Given the description of an element on the screen output the (x, y) to click on. 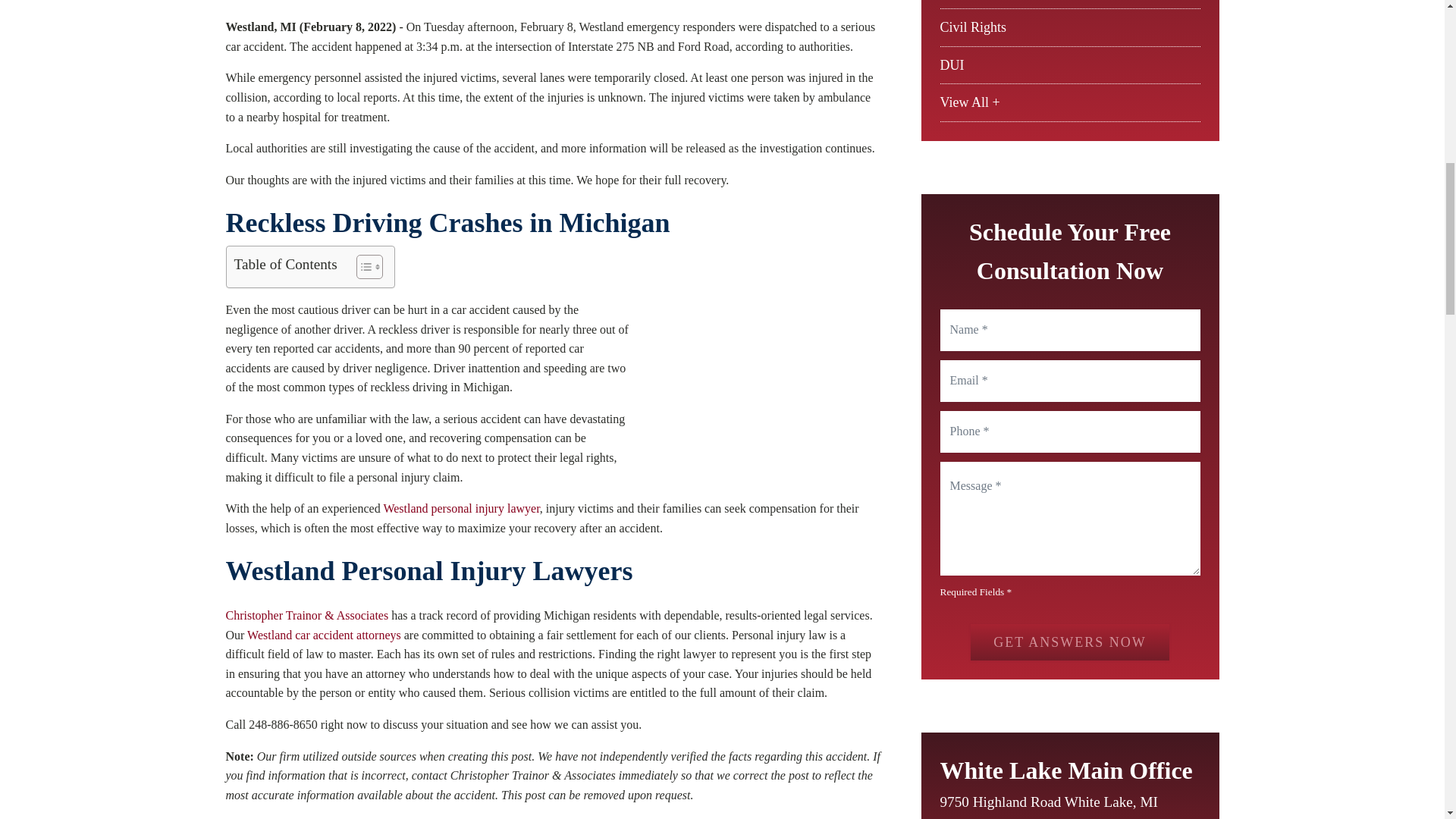
9750 Highland Road White Lake, MI 48386 (1056, 804)
Get Answers Now (1070, 642)
Westland car accident attorneys (324, 634)
DUI (951, 64)
Westland personal injury lawyer (460, 508)
Civil Rights (973, 27)
Get Answers Now (1070, 642)
